Given the description of an element on the screen output the (x, y) to click on. 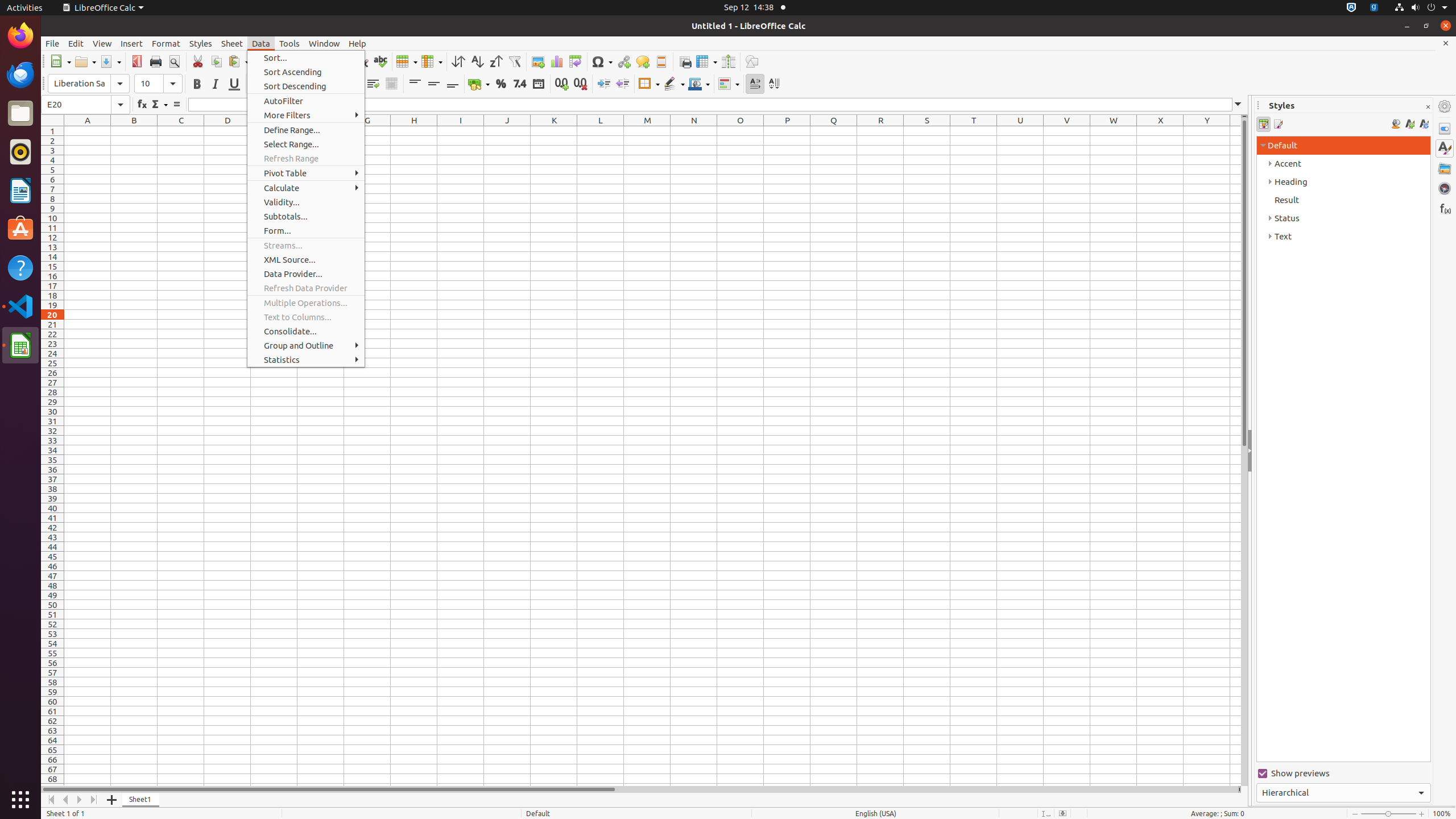
Copy Element type: push-button (216, 61)
Define Range... Element type: menu-item (305, 129)
Functions Element type: radio-button (1444, 208)
L1 Element type: table-cell (600, 130)
New Element type: push-button (59, 61)
